Given the description of an element on the screen output the (x, y) to click on. 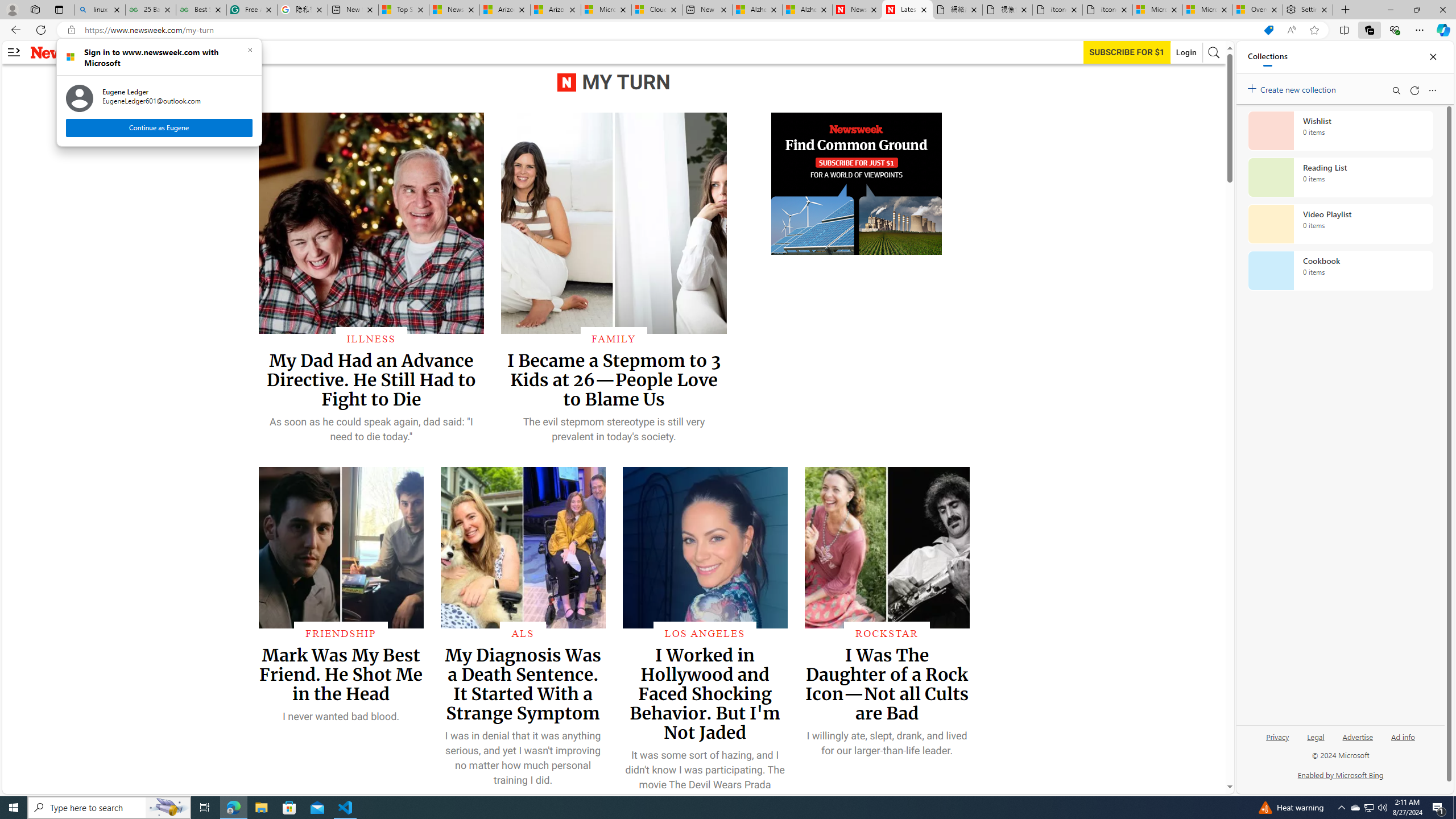
Ad info (1402, 736)
Q2790: 100% (1382, 807)
Legal (1315, 736)
Continue as Eugene (158, 127)
Search highlights icon opens search home window (167, 807)
Cookbook collection, 0 items (1339, 270)
Privacy (1278, 736)
Microsoft Services Agreement (606, 9)
Heat warning (1290, 807)
